Given the description of an element on the screen output the (x, y) to click on. 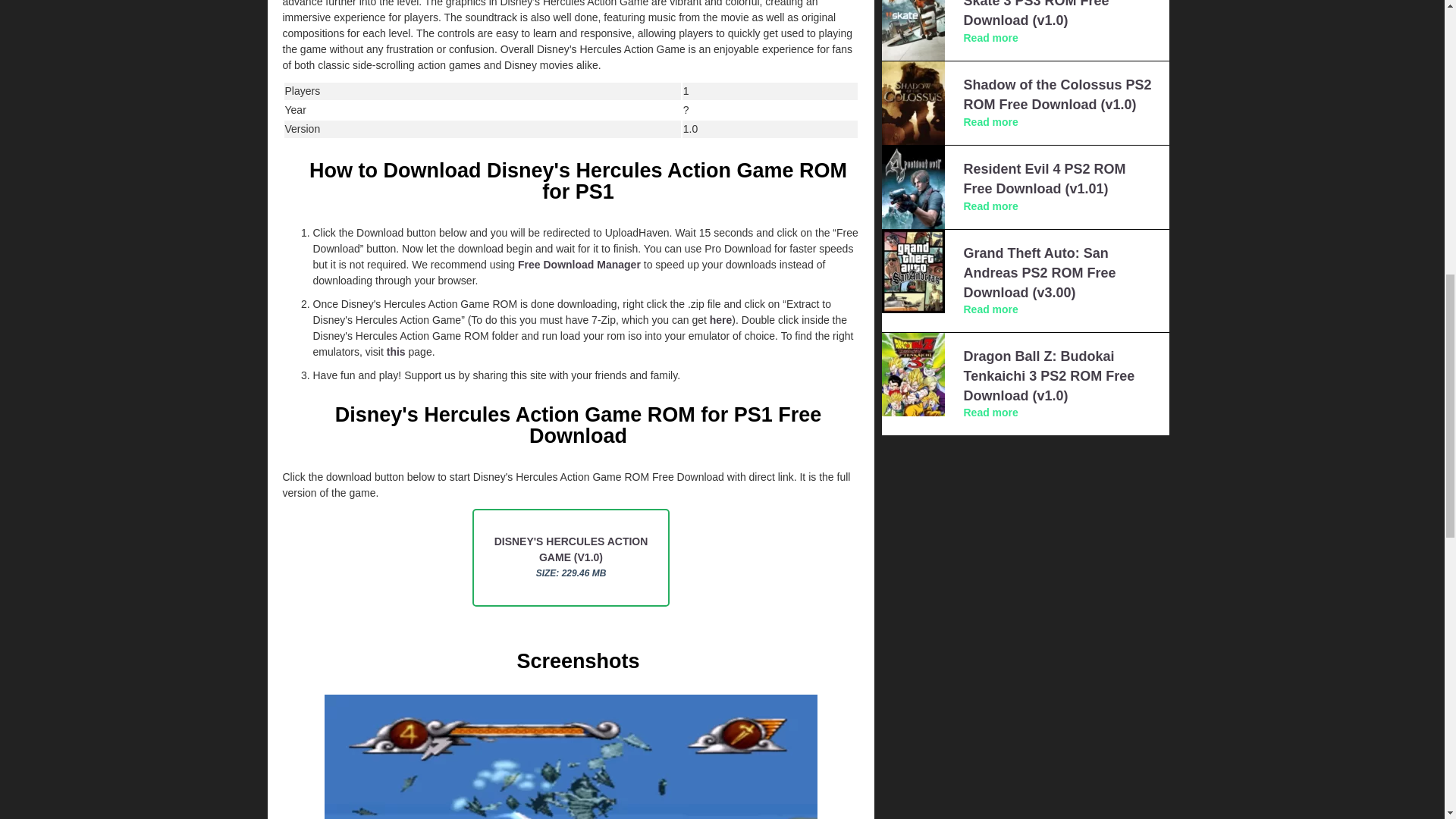
Read more (989, 121)
Read more (989, 205)
Read more (989, 37)
here (721, 319)
Free Download Manager (579, 264)
Read more (989, 309)
this (396, 351)
